Given the description of an element on the screen output the (x, y) to click on. 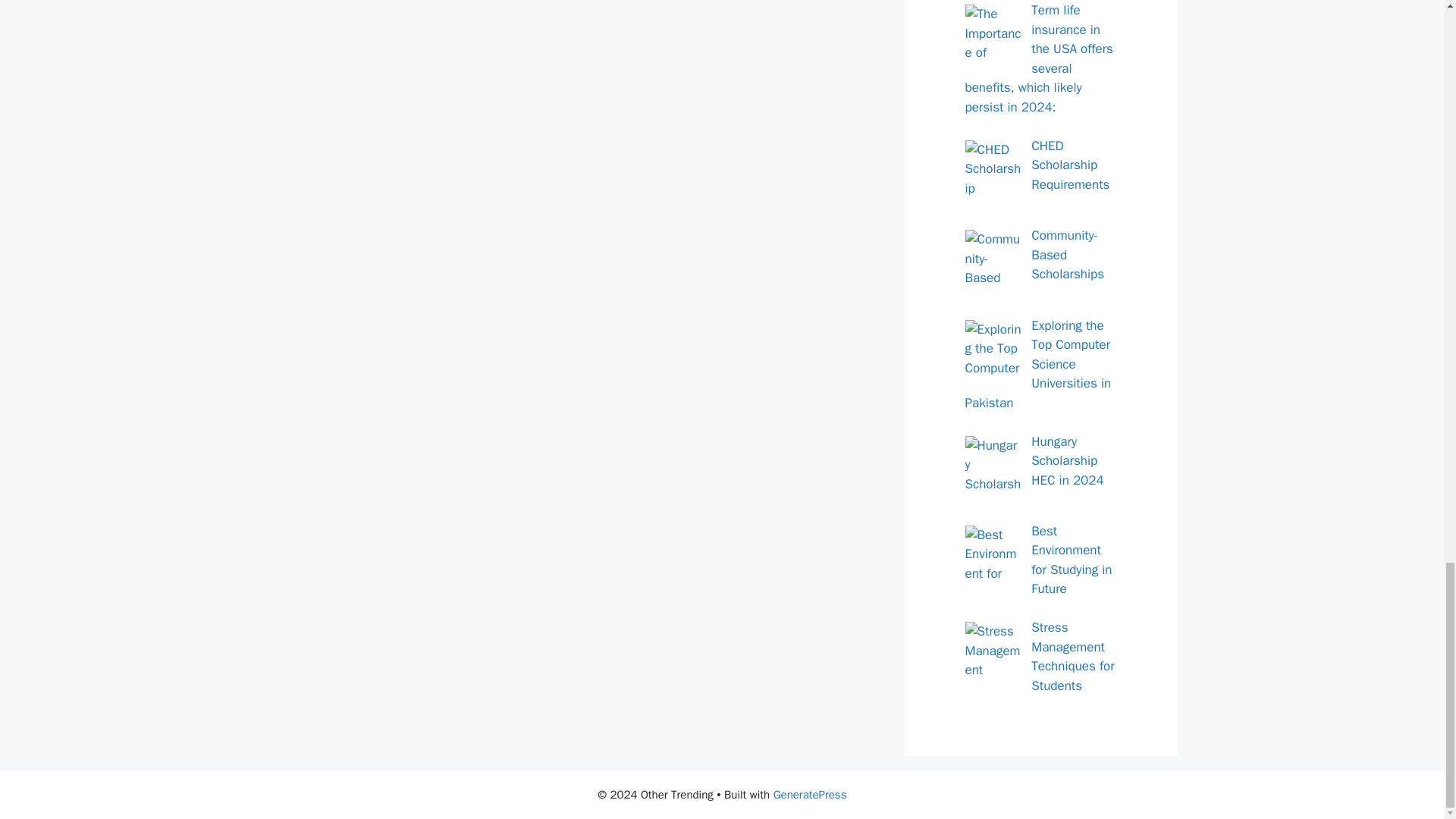
GeneratePress (810, 794)
Community-Based Scholarships (1066, 254)
Exploring the Top Computer Science Universities in Pakistan (1036, 364)
Best Environment for Studying in Future (1071, 560)
Stress Management Techniques for Students (1071, 656)
CHED Scholarship Requirements (1069, 165)
Hungary Scholarship HEC in 2024 (1066, 461)
